Given the description of an element on the screen output the (x, y) to click on. 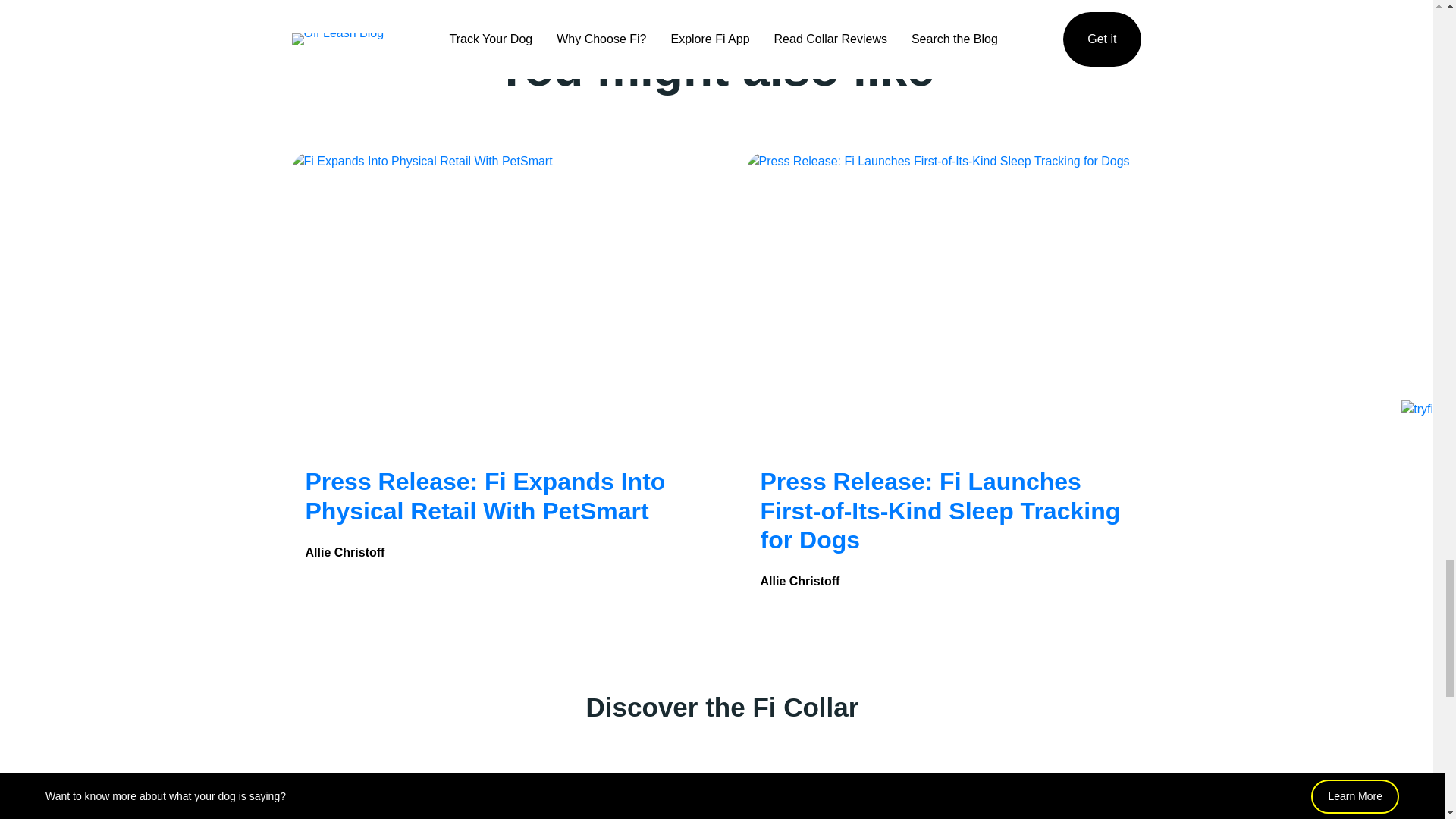
Allie Christoff (491, 552)
Allie Christoff (947, 581)
Press Release: Fi Expands Into Physical Retail With PetSmart (484, 495)
